Given the description of an element on the screen output the (x, y) to click on. 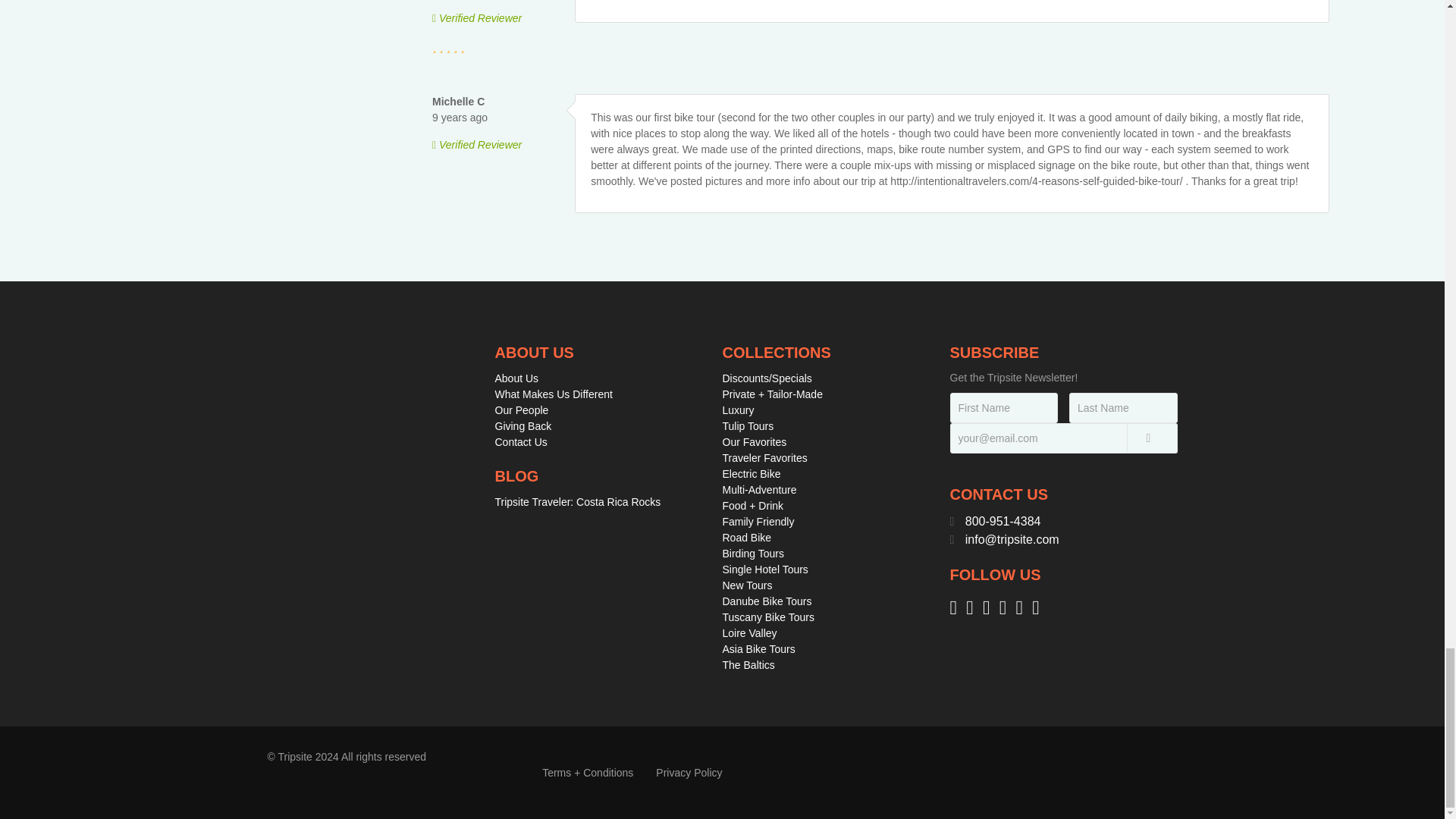
Email (1062, 438)
Last Name (1122, 408)
First Name (1003, 408)
